Given the description of an element on the screen output the (x, y) to click on. 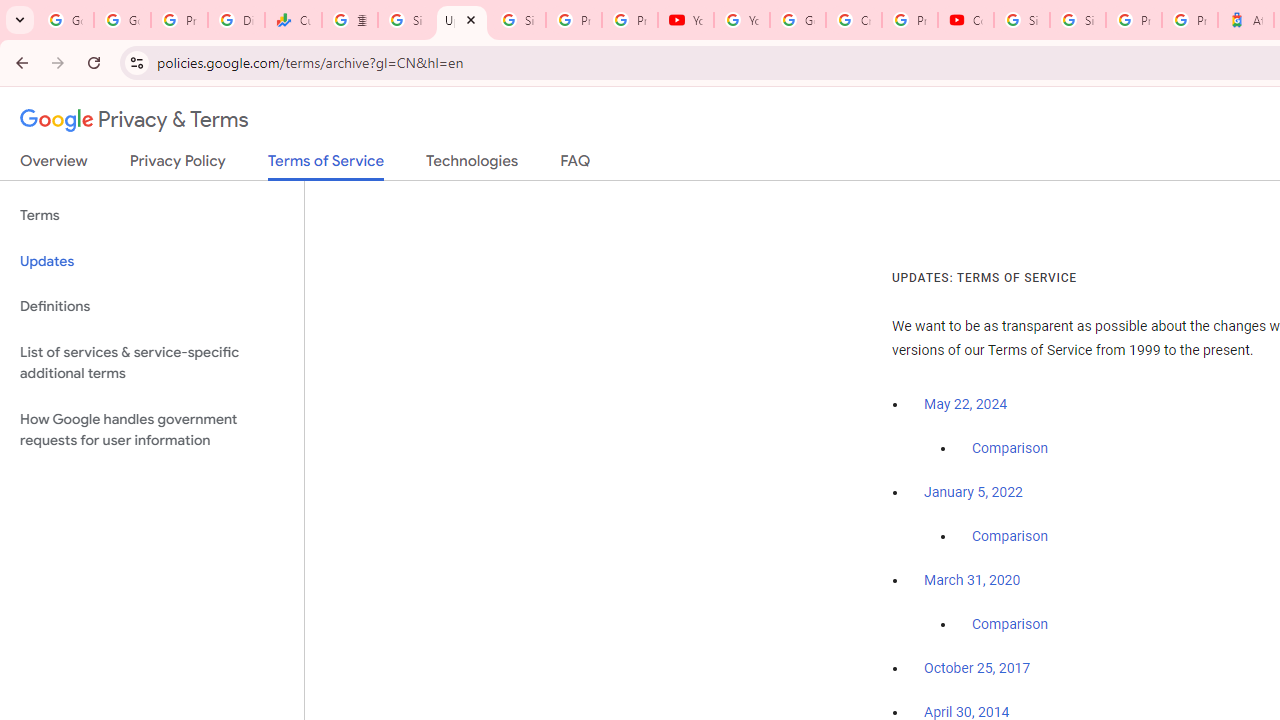
YouTube (685, 20)
Content Creator Programs & Opportunities - YouTube Creators (966, 20)
Sign in - Google Accounts (1077, 20)
Comparison (1009, 625)
